Given the description of an element on the screen output the (x, y) to click on. 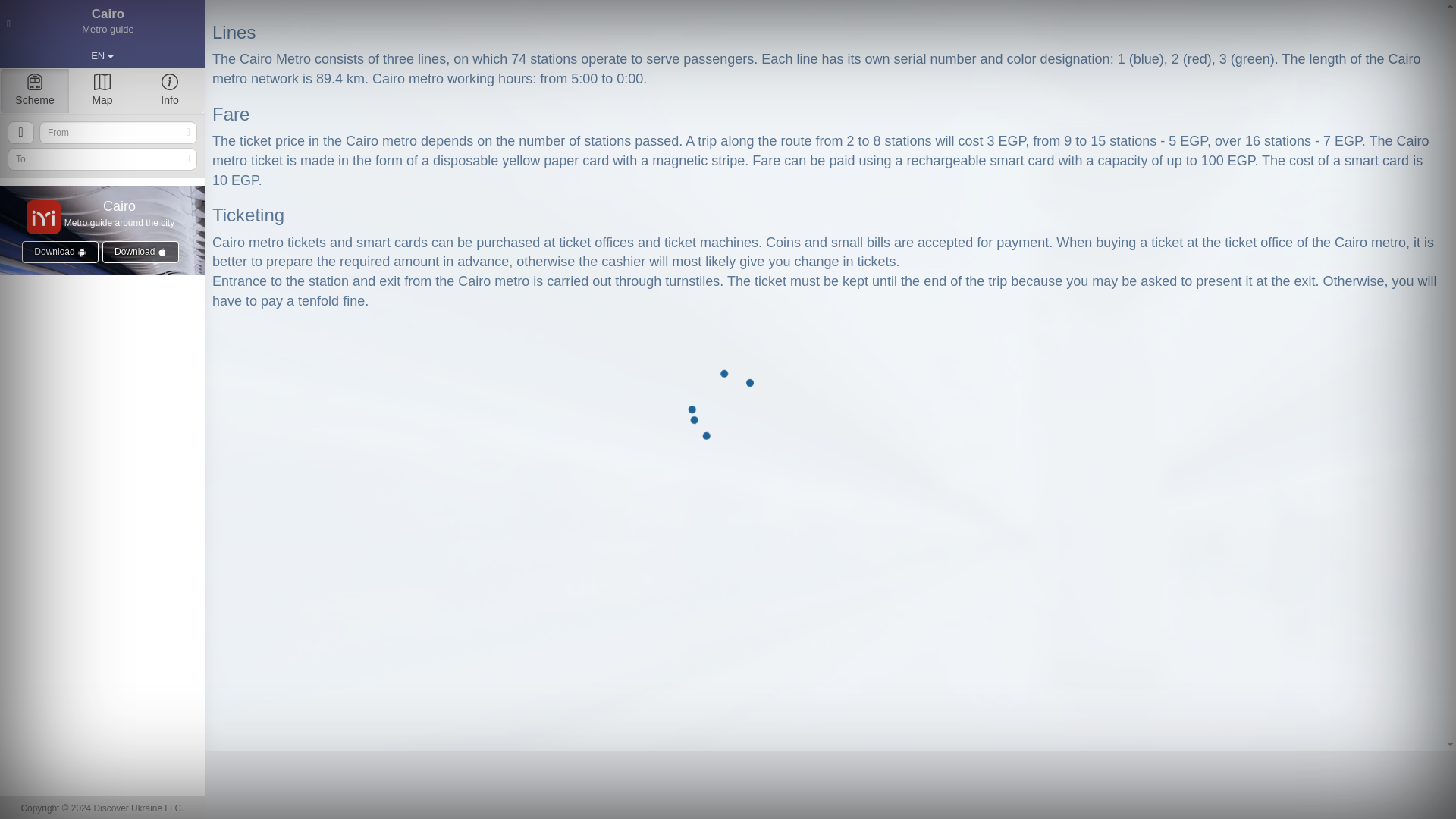
EN (102, 53)
Scheme (34, 90)
Info (169, 90)
Location (20, 132)
Map (102, 20)
